Given the description of an element on the screen output the (x, y) to click on. 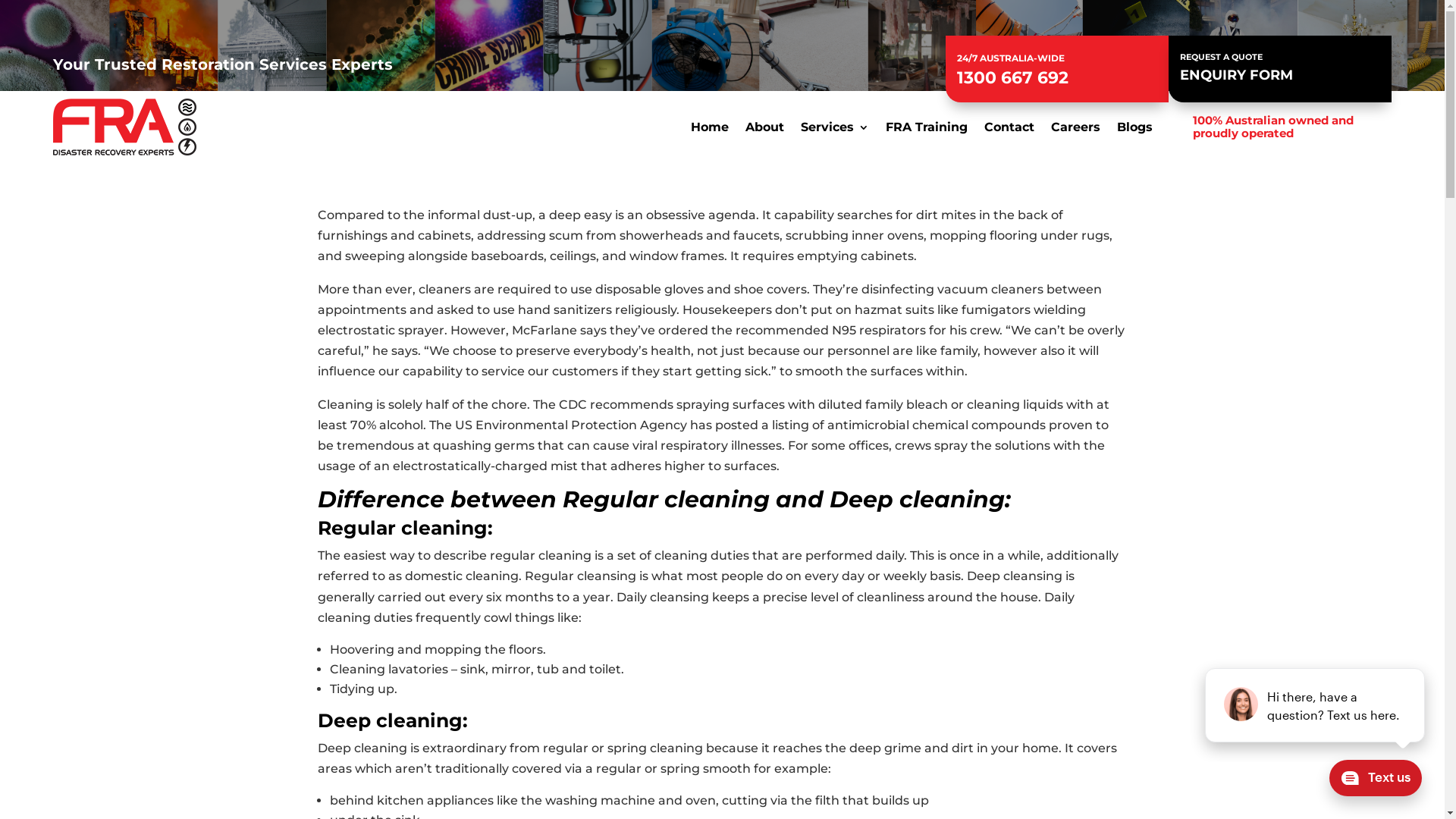
Contact Element type: text (1009, 129)
About Element type: text (764, 129)
podium webchat widget prompt Element type: hover (1315, 705)
Services Element type: text (834, 129)
Blogs Element type: text (1134, 129)
FRA Training Element type: text (926, 129)
Logo Element type: hover (124, 126)
Home Element type: text (709, 129)
Careers Element type: text (1075, 129)
1300 667 692 Element type: text (1012, 77)
